Given the description of an element on the screen output the (x, y) to click on. 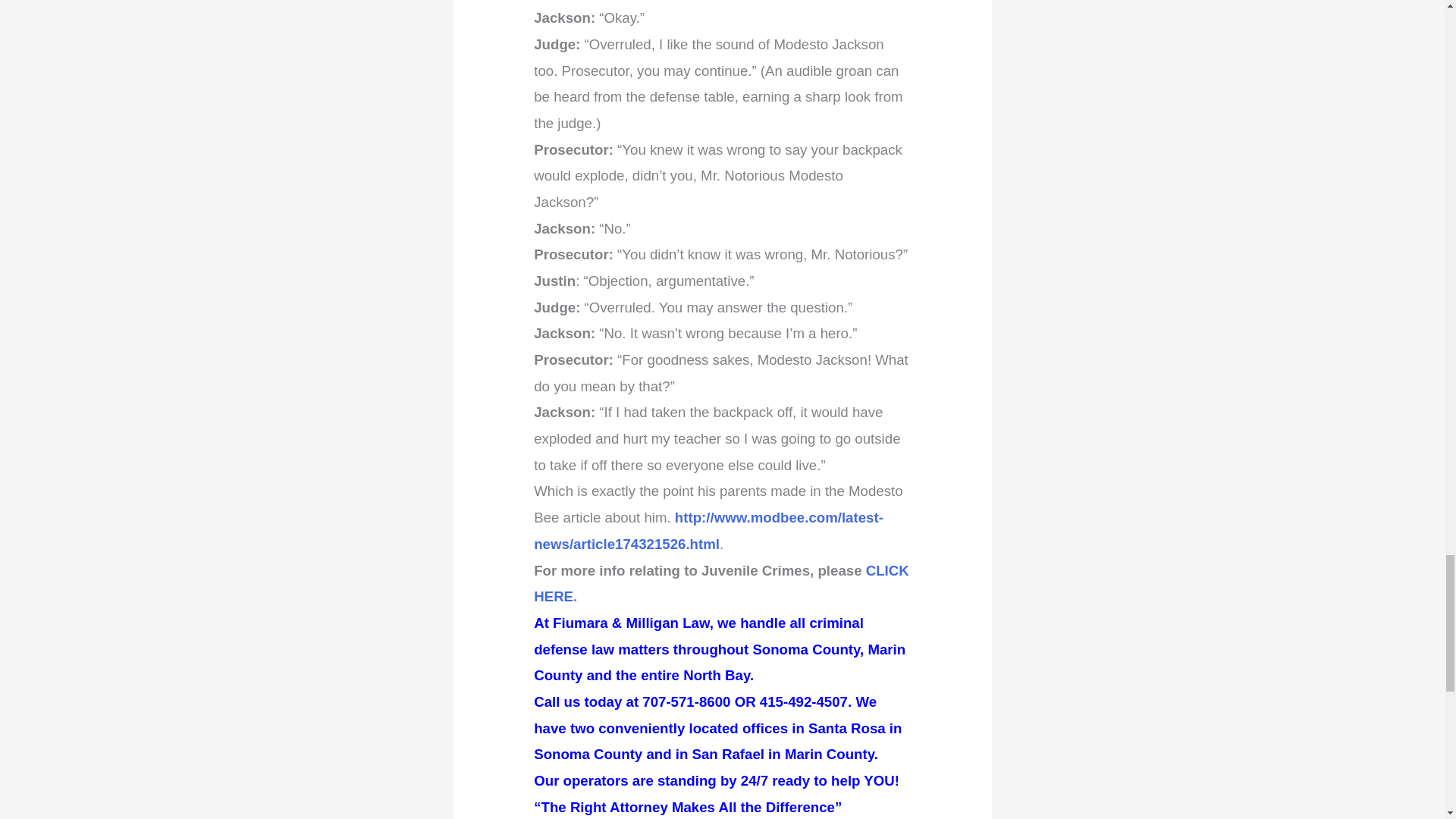
CLICK HERE (721, 583)
